Given the description of an element on the screen output the (x, y) to click on. 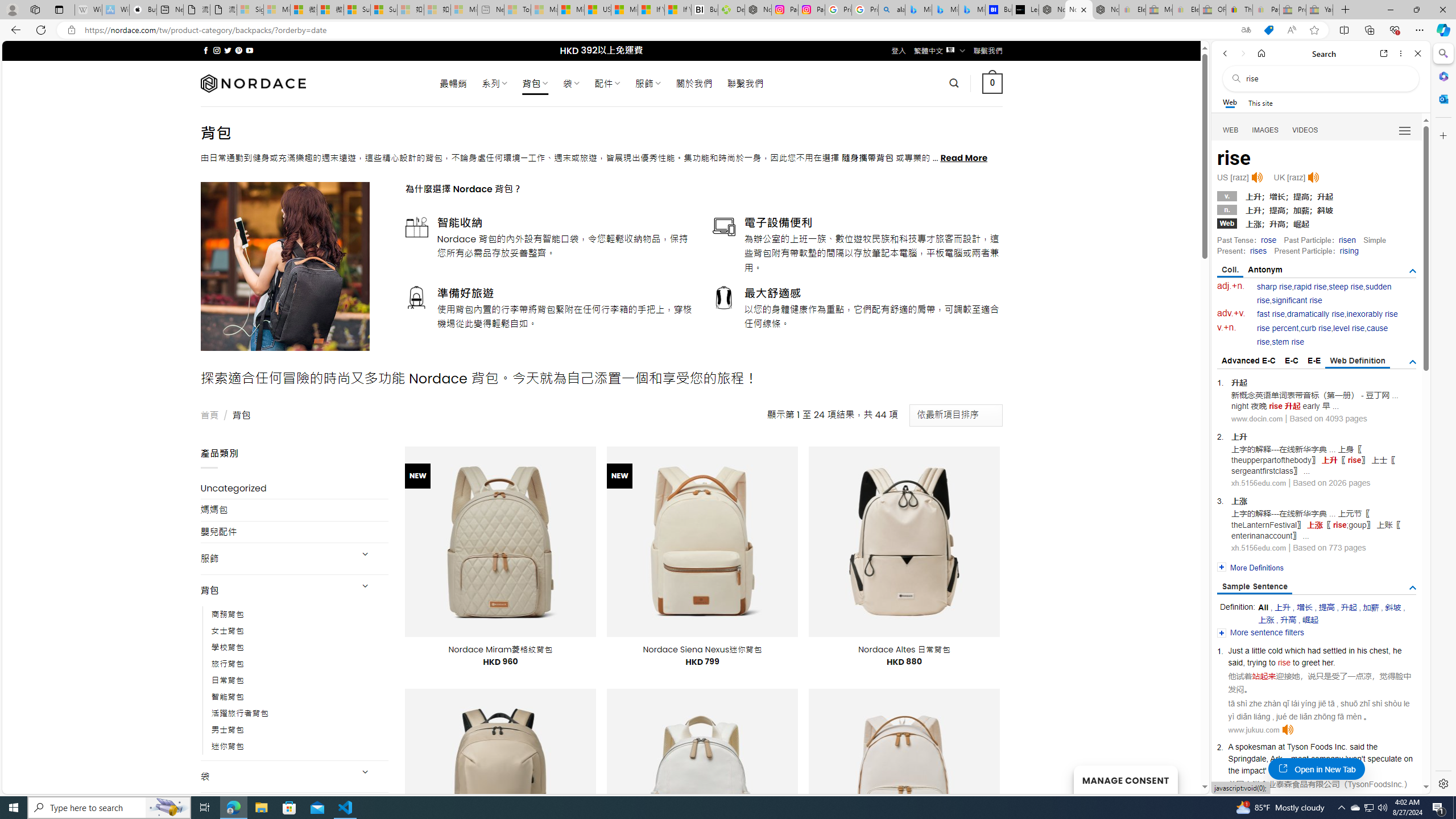
alabama high school quarterback dies - Search (891, 9)
Based on 773 pages (1328, 547)
E-C (1291, 360)
